Given the description of an element on the screen output the (x, y) to click on. 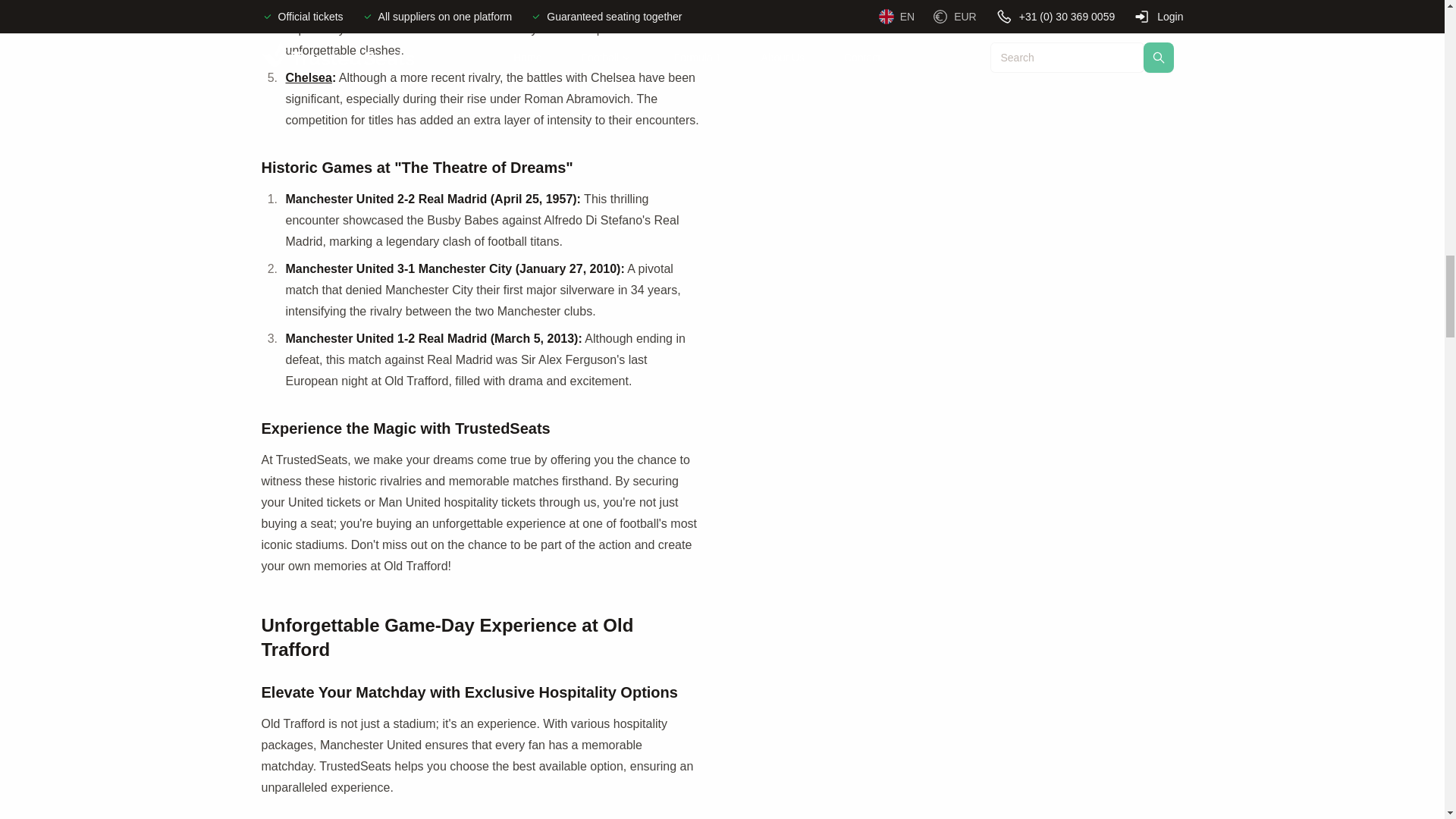
Chelsea (308, 77)
